Given the description of an element on the screen output the (x, y) to click on. 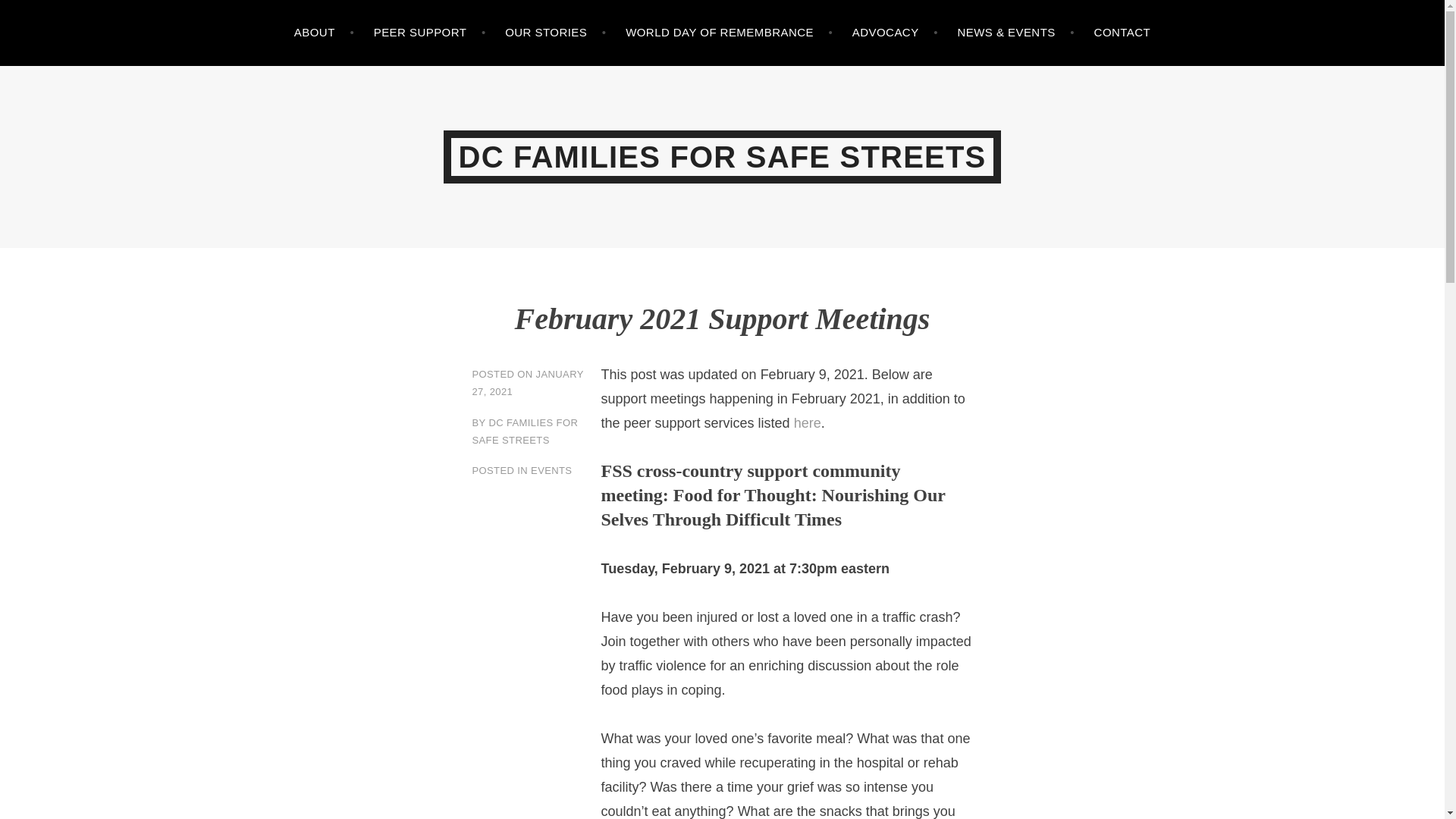
PEER SUPPORT (430, 32)
ABOUT (323, 32)
Search (42, 15)
JANUARY 27, 2021 (527, 382)
CONTACT (1122, 32)
WORLD DAY OF REMEMBRANCE (729, 32)
OUR STORIES (555, 32)
ADVOCACY (894, 32)
DC FAMILIES FOR SAFE STREETS (524, 430)
here (807, 423)
